Given the description of an element on the screen output the (x, y) to click on. 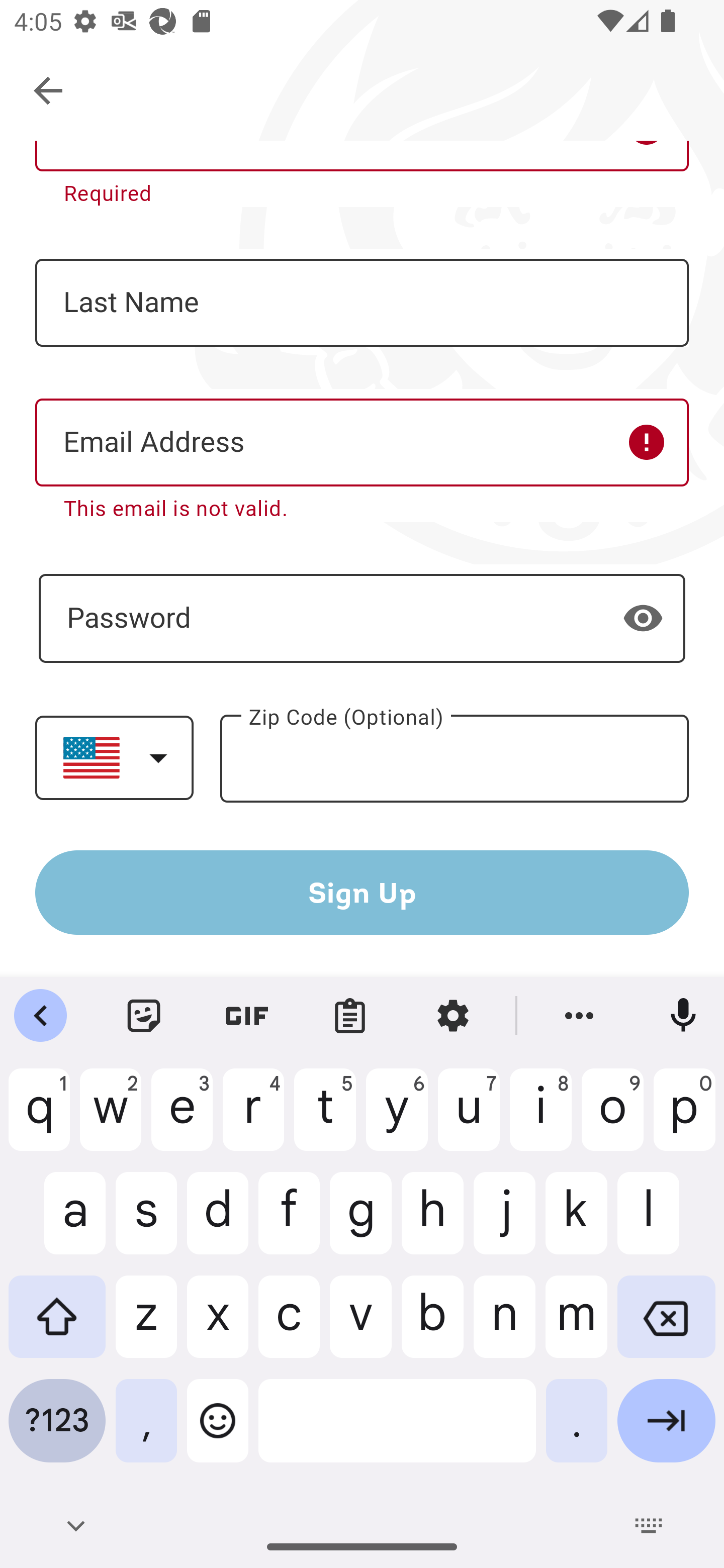
Navigate up (49, 91)
Last Name - Required (361, 302)
Email Address - Required (361, 442)
- Required (361, 618)
Show password (642, 617)
Zip Code – Optional (454, 758)
Select a country. United States selected. (114, 757)
Sign Up (361, 891)
